Given the description of an element on the screen output the (x, y) to click on. 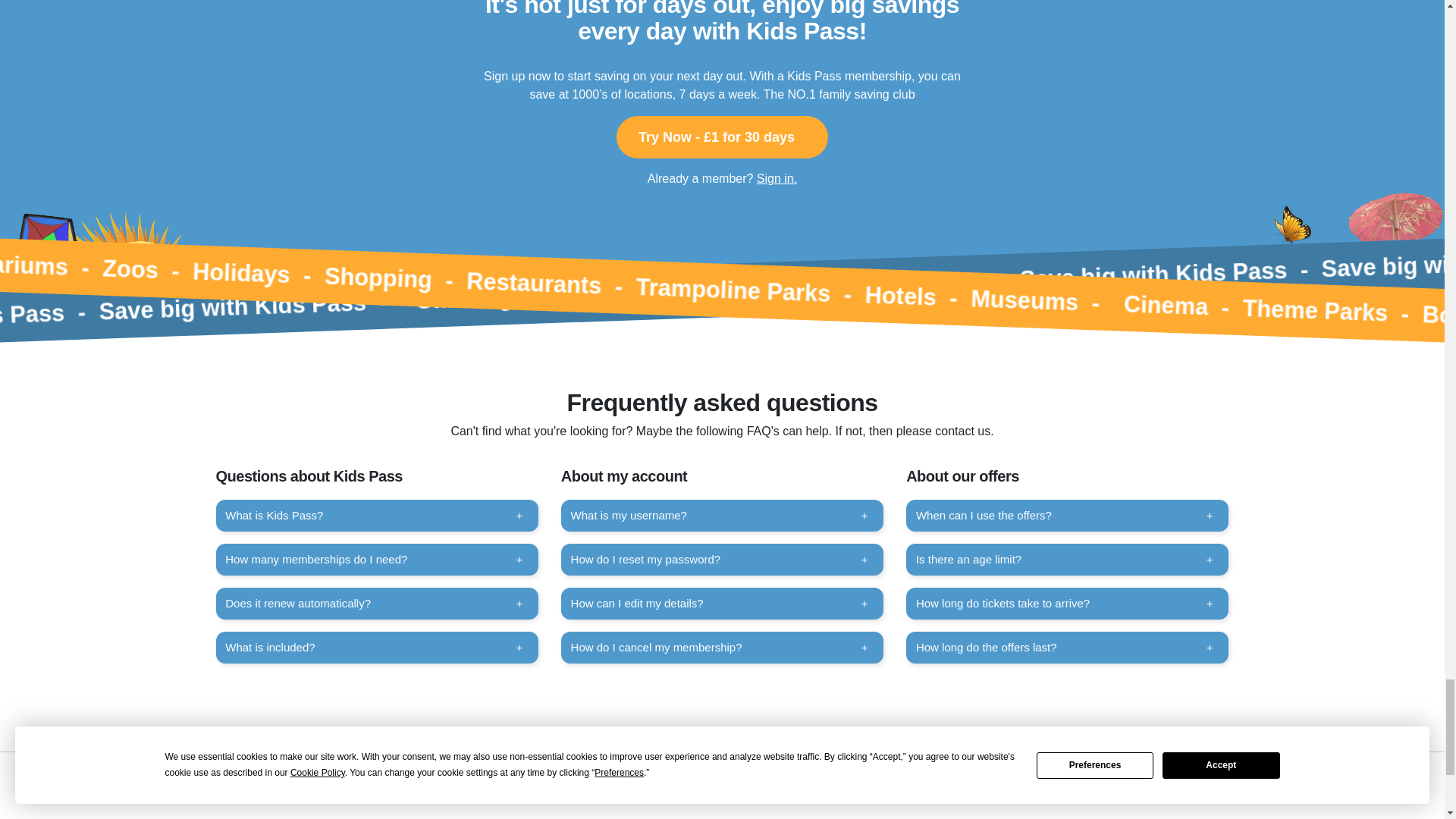
Sign in. (776, 178)
